Given the description of an element on the screen output the (x, y) to click on. 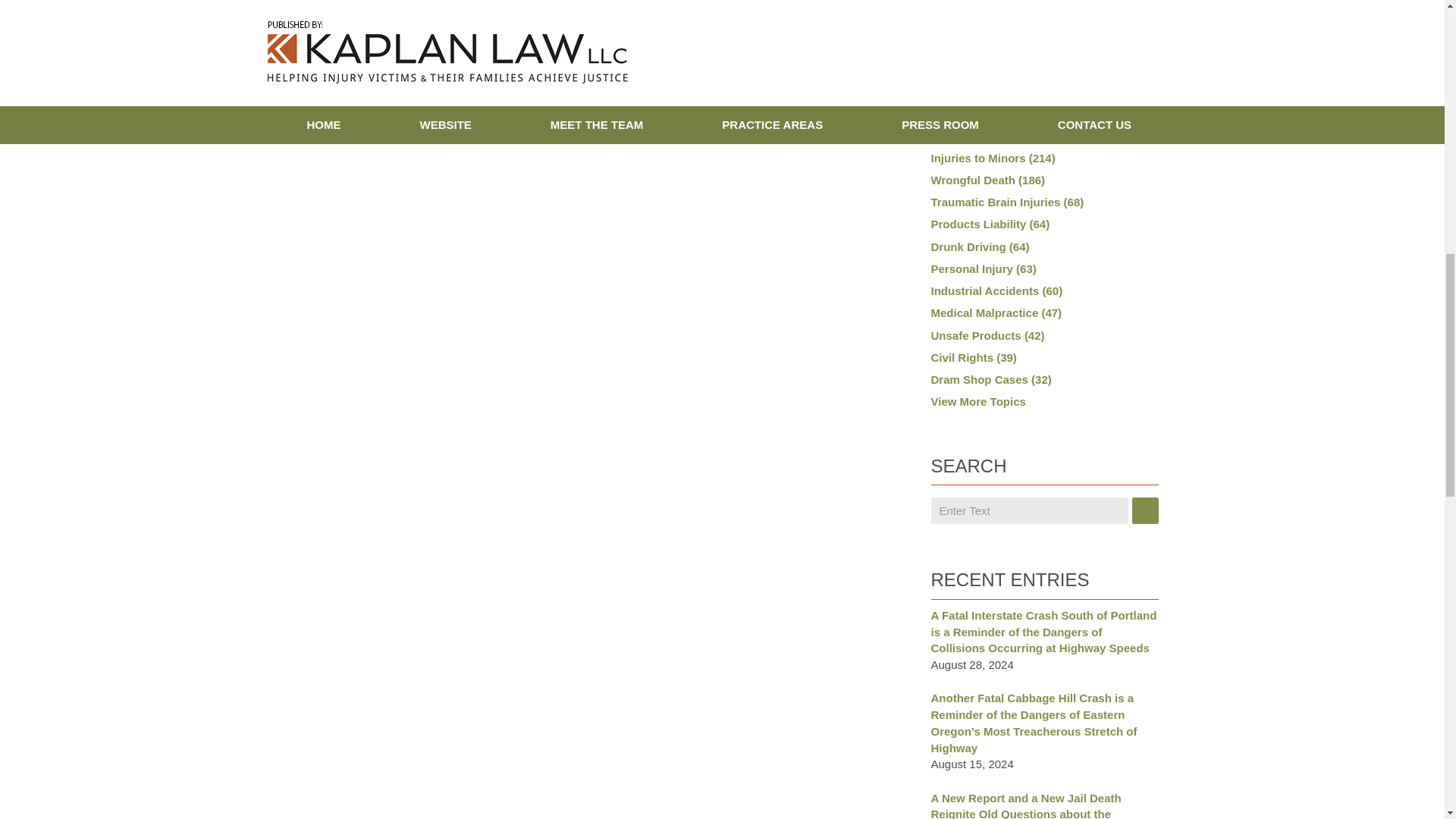
Portland Wrongful Death Issues Emerge in Niteclub Shooting (422, 128)
Police Search for Oregon Hit-and-Run Driver (319, 128)
Unsafe Products (372, 45)
Home (377, 128)
View all posts in Unsafe Products (372, 45)
